Given the description of an element on the screen output the (x, y) to click on. 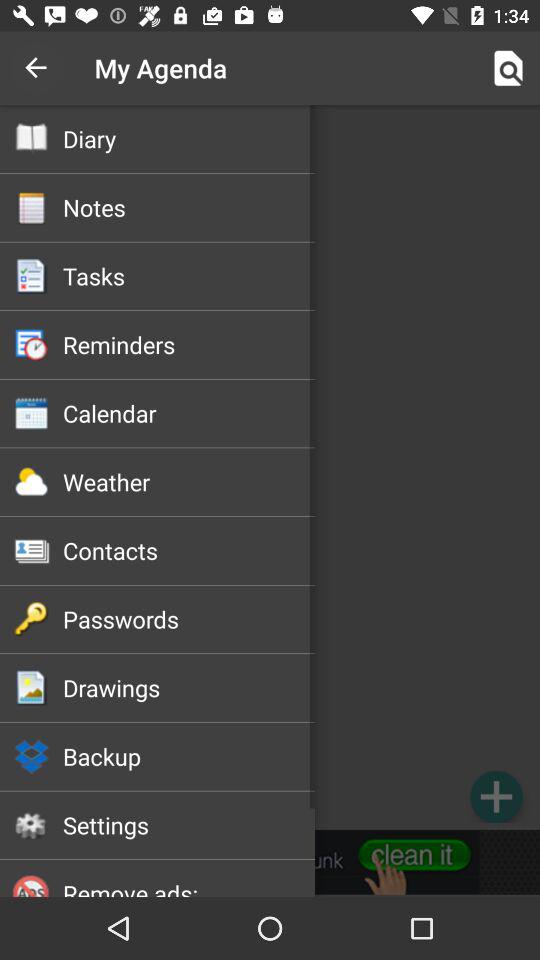
jump to tasks icon (188, 276)
